Given the description of an element on the screen output the (x, y) to click on. 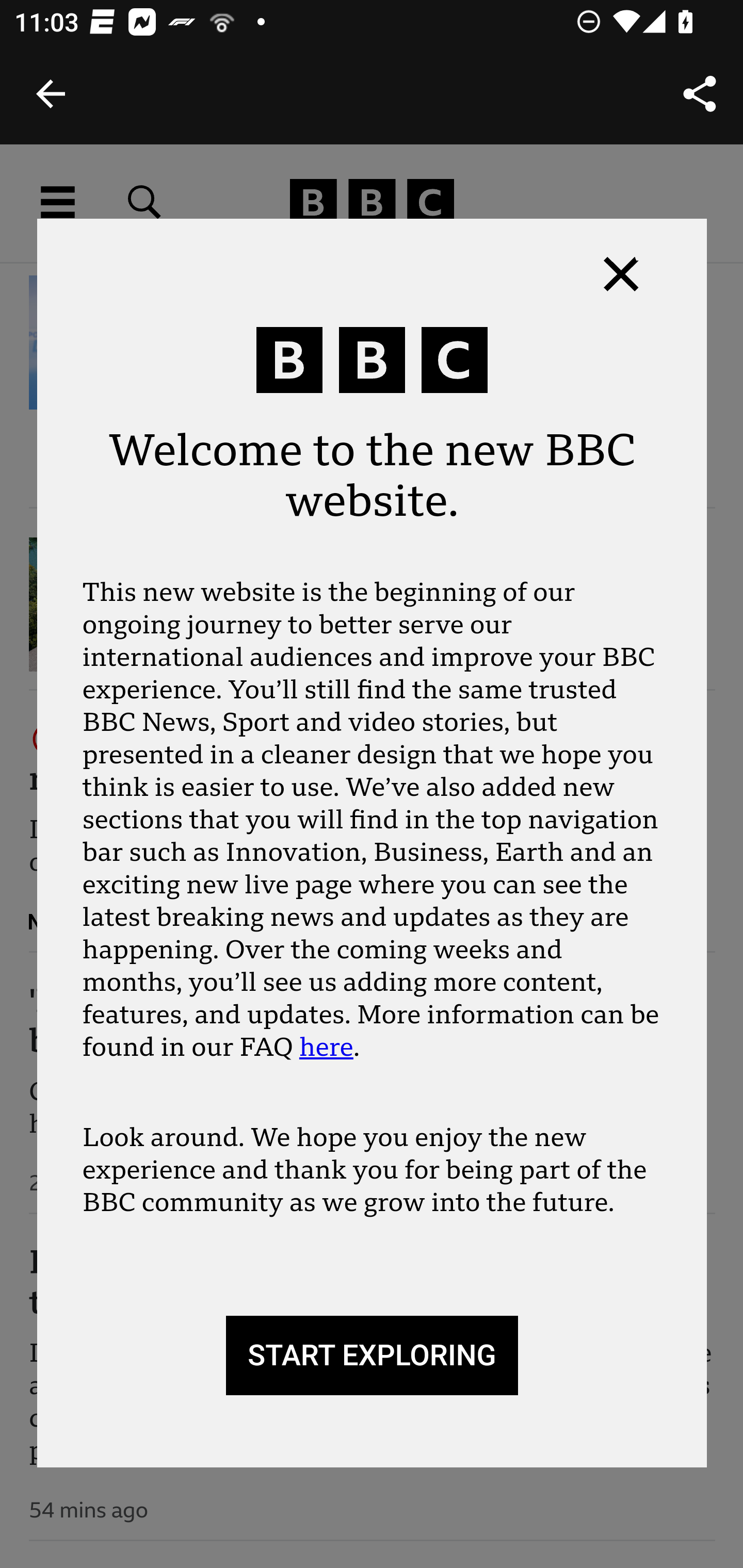
Back (50, 93)
Share (699, 93)
here (325, 1046)
START EXPLORING (371, 1356)
